Given the description of an element on the screen output the (x, y) to click on. 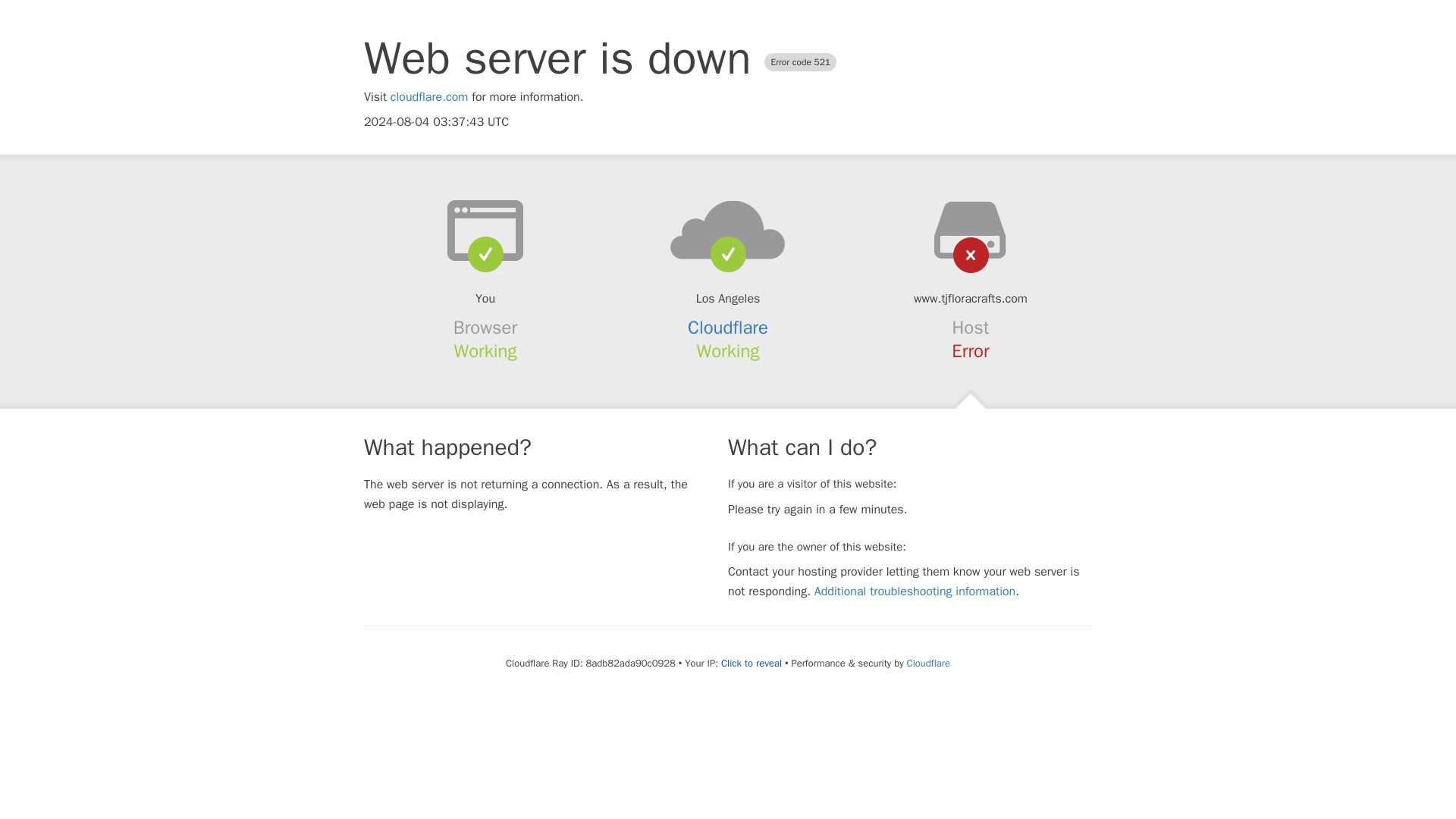
Cloudflare (727, 327)
Additional troubleshooting information (913, 590)
cloudflare.com (429, 96)
Cloudflare (928, 662)
Click to reveal (750, 663)
